Given the description of an element on the screen output the (x, y) to click on. 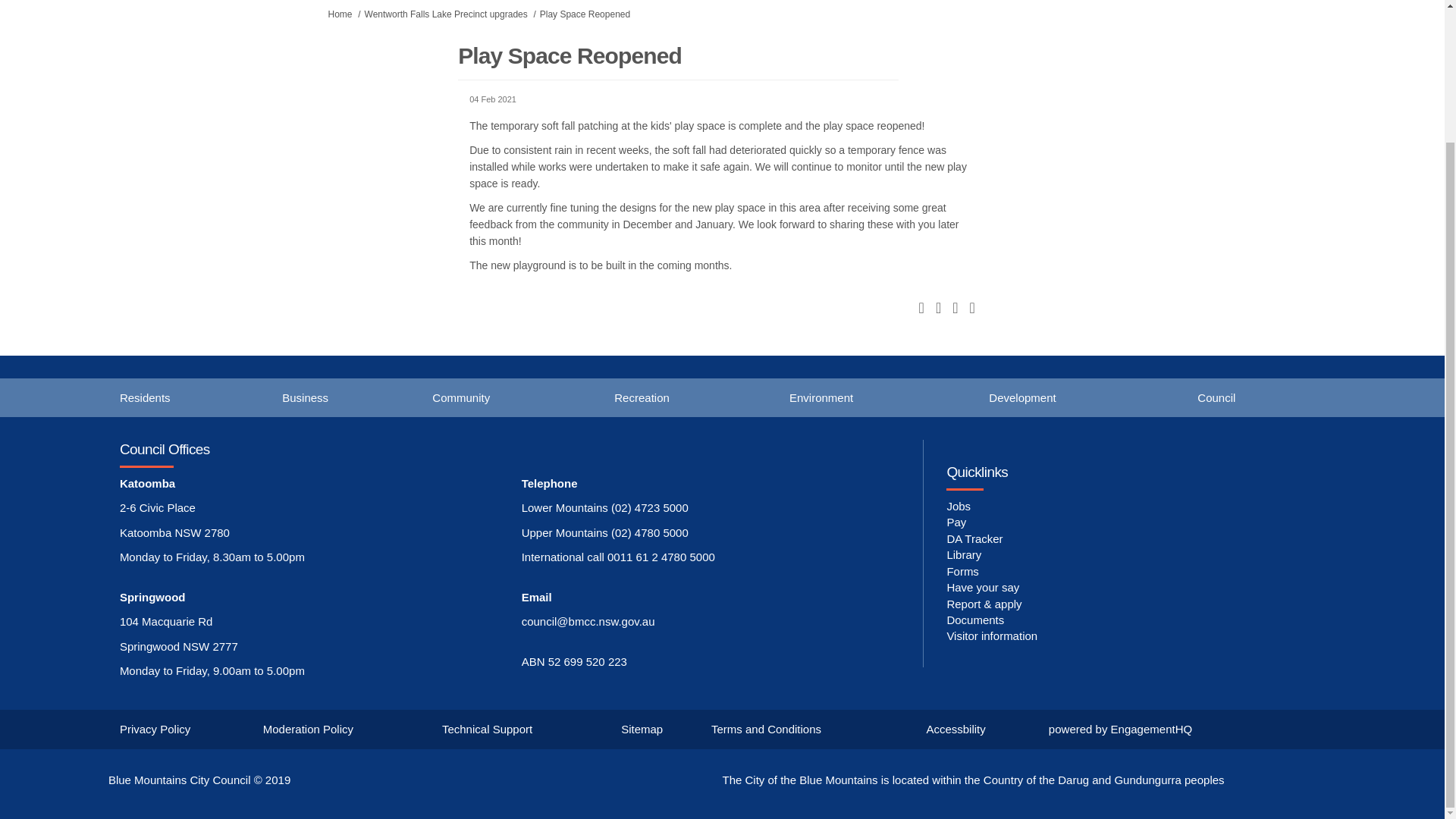
04 Feb 2021, 12:22 PM (721, 100)
Home (339, 14)
Wentworth Falls Lake Precinct upgrades (446, 14)
